Given the description of an element on the screen output the (x, y) to click on. 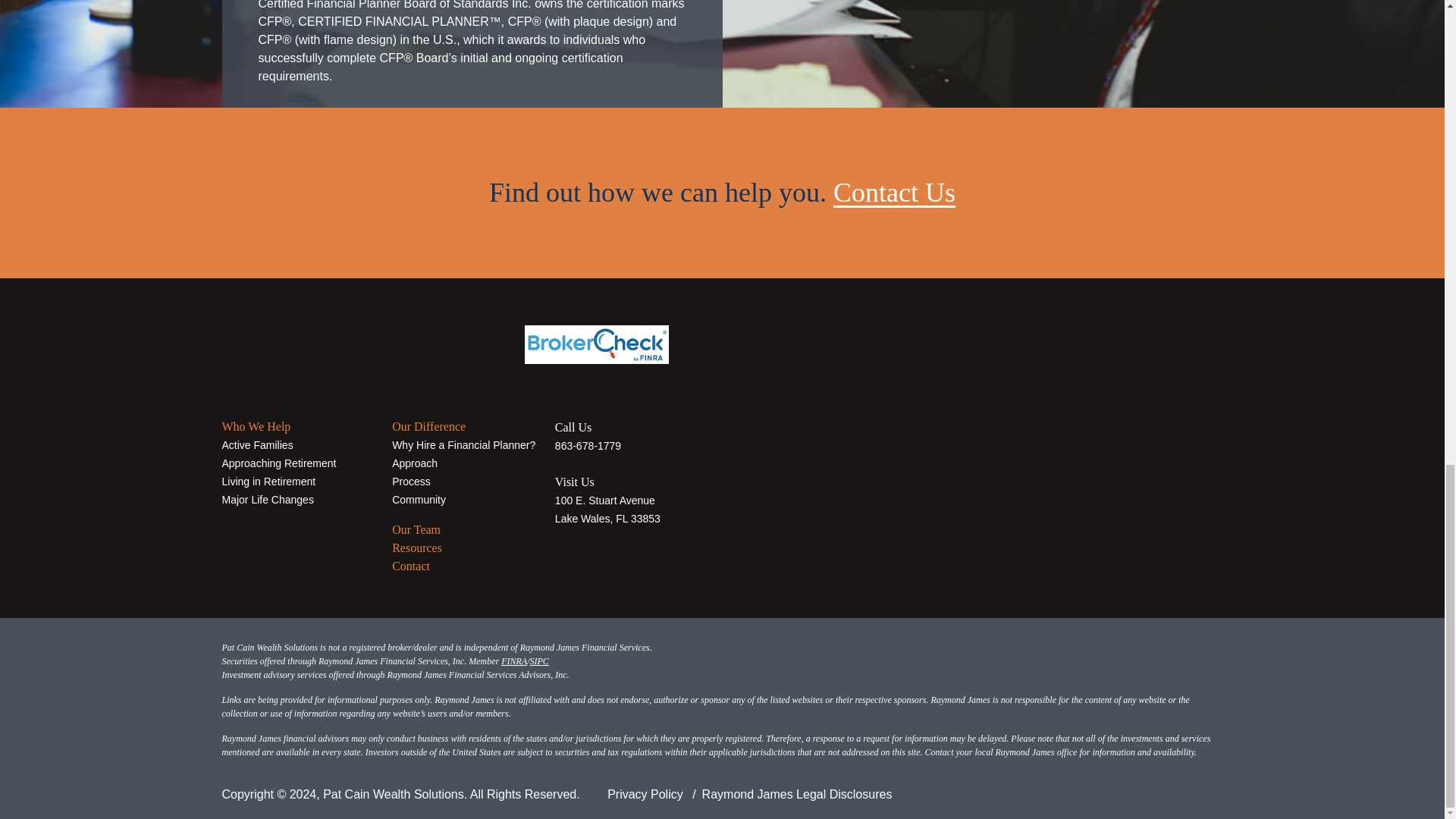
Approaching Retirement (278, 462)
Active Families (256, 444)
Privacy Policy (644, 793)
Contact (410, 565)
Our Difference (428, 426)
Pat Cain Wealth Solutions (315, 340)
Approach (414, 462)
SIPC (538, 660)
Community (418, 499)
FINRA (513, 660)
